Given the description of an element on the screen output the (x, y) to click on. 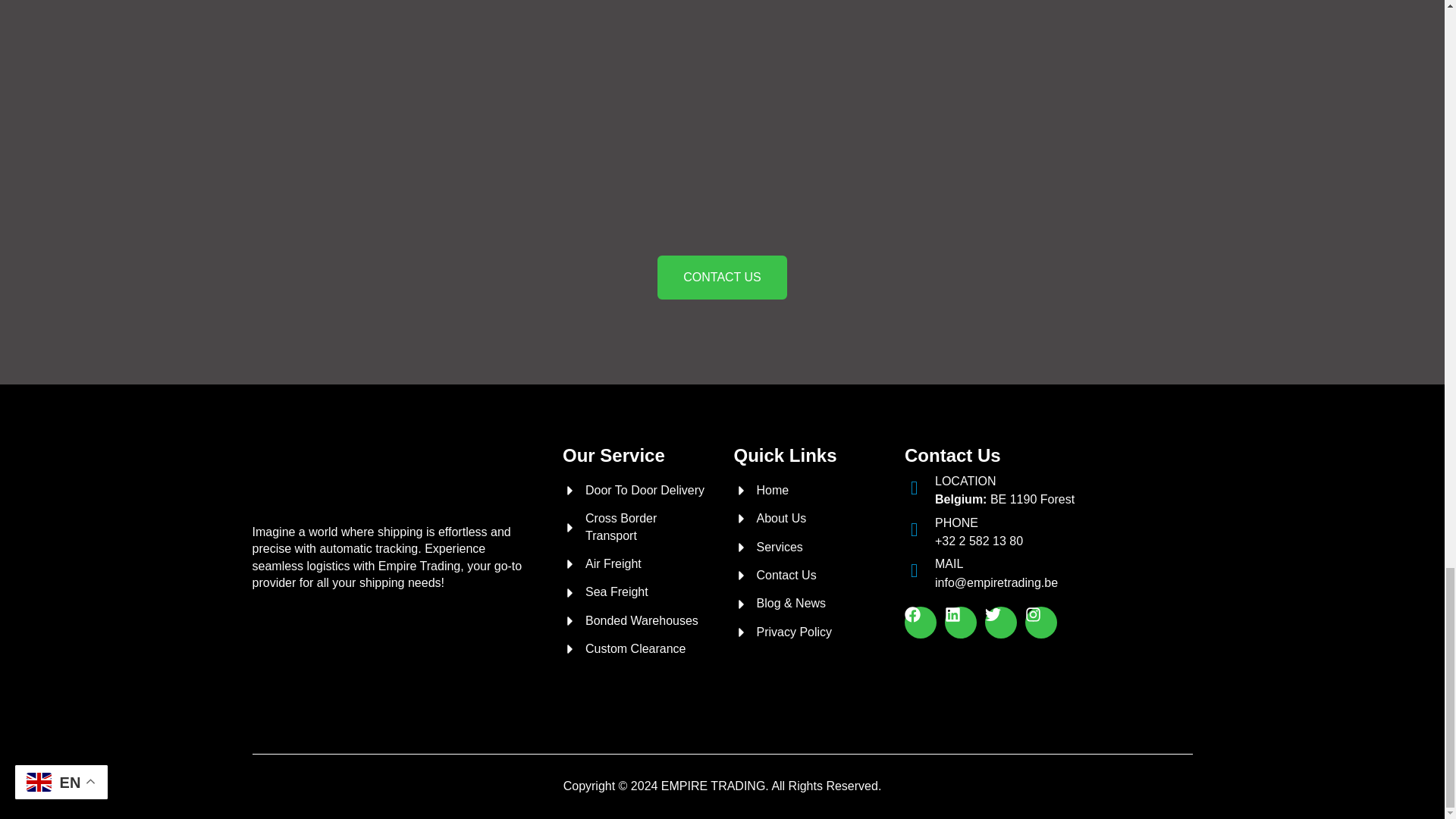
CONTACT US (722, 277)
